Given the description of an element on the screen output the (x, y) to click on. 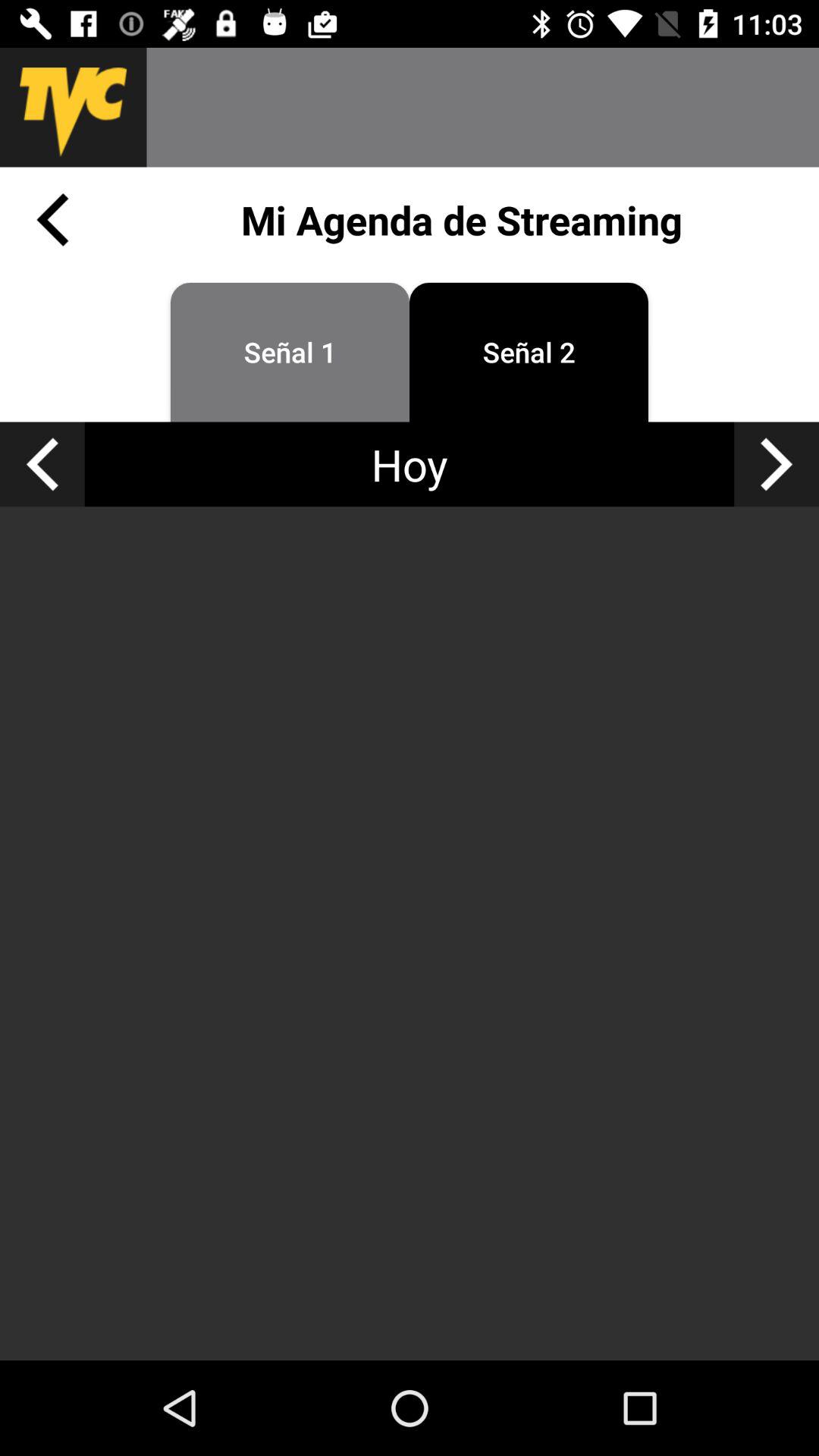
select item at the top right corner (776, 464)
